Given the description of an element on the screen output the (x, y) to click on. 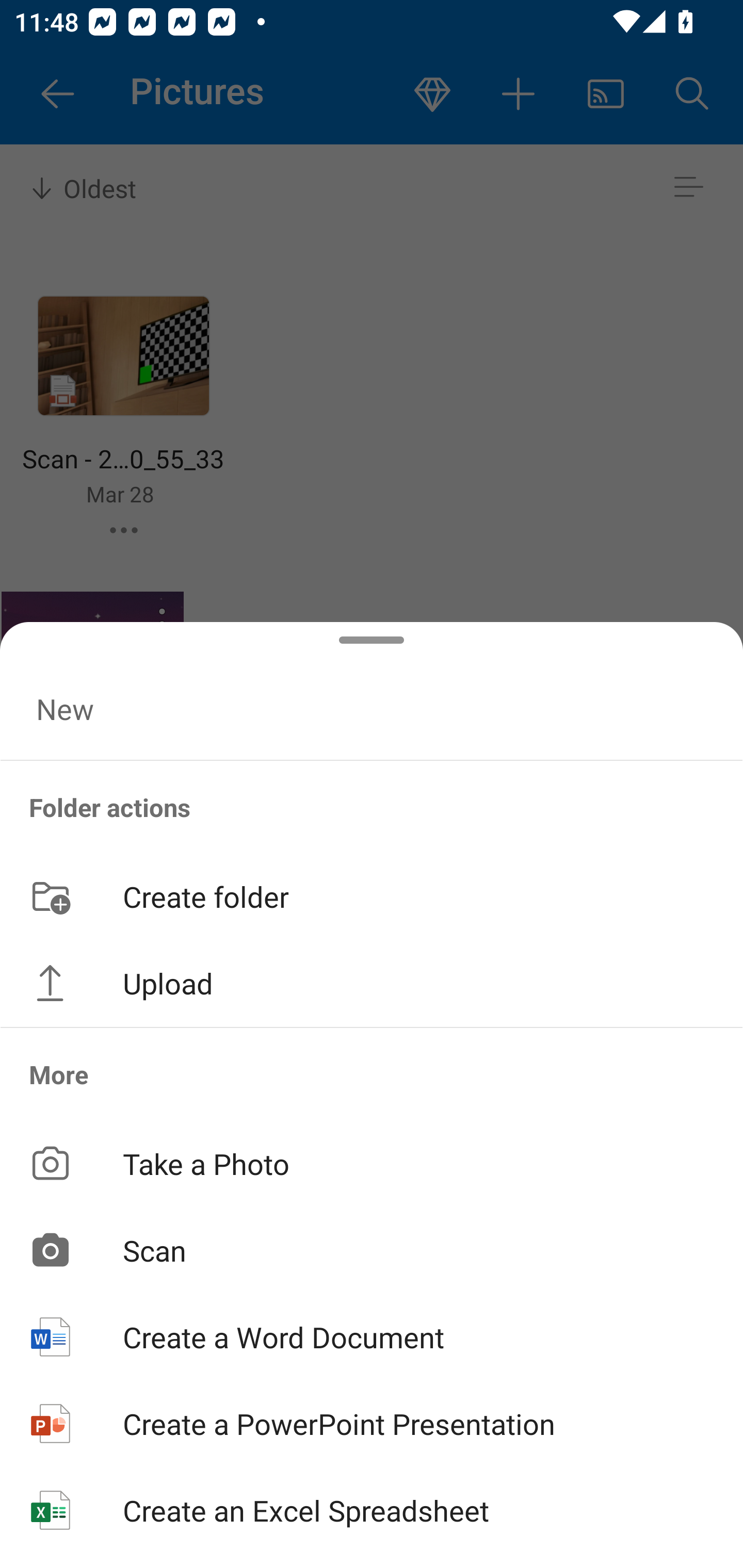
Create folder button Create folder (371, 895)
Upload button Upload (371, 983)
Take a Photo button Take a Photo (371, 1163)
Scan button Scan (371, 1250)
